Given the description of an element on the screen output the (x, y) to click on. 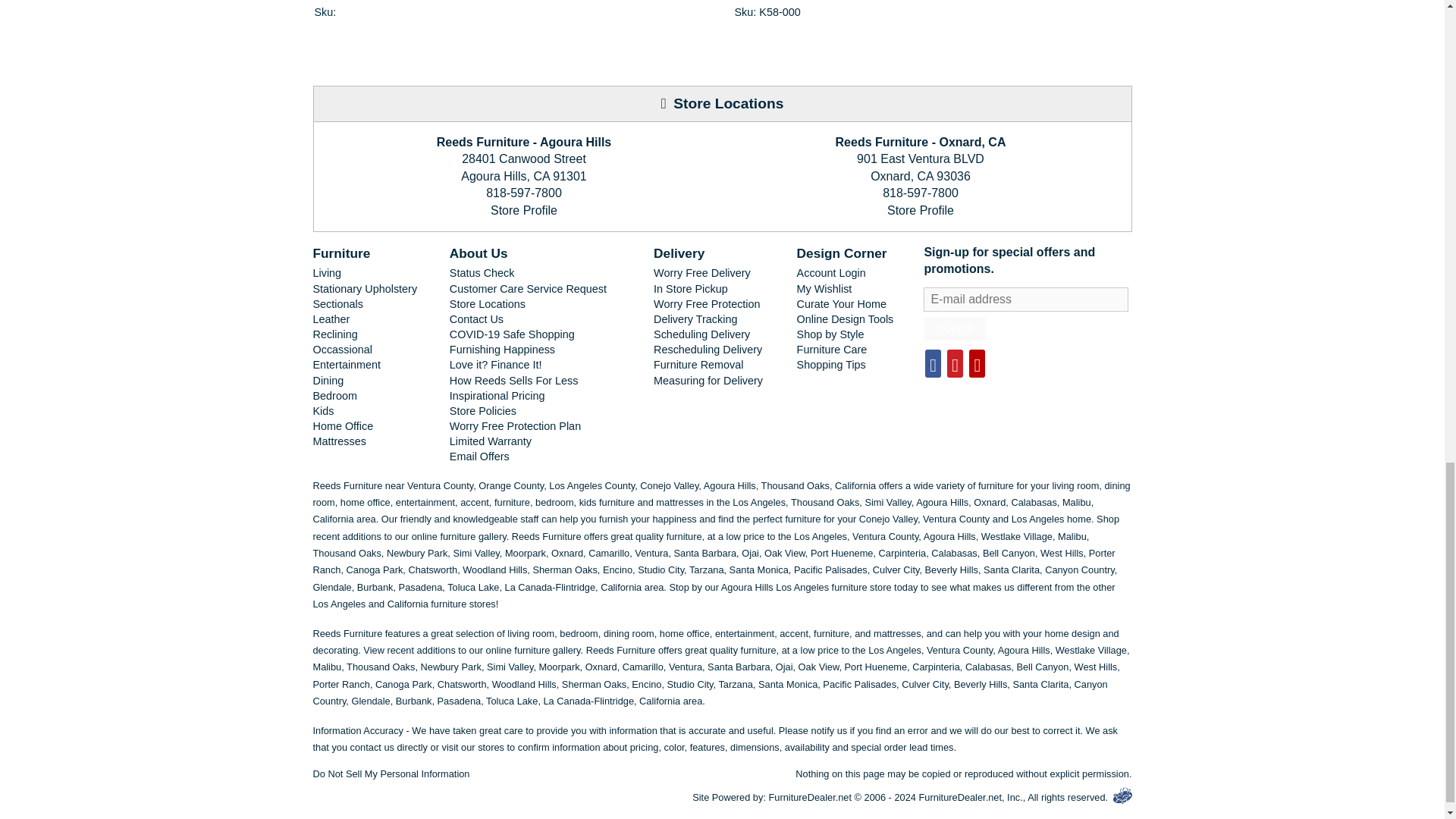
Click to view this Item. (381, 2)
Click to view this Item. (801, 2)
Submit (954, 328)
